Given the description of an element on the screen output the (x, y) to click on. 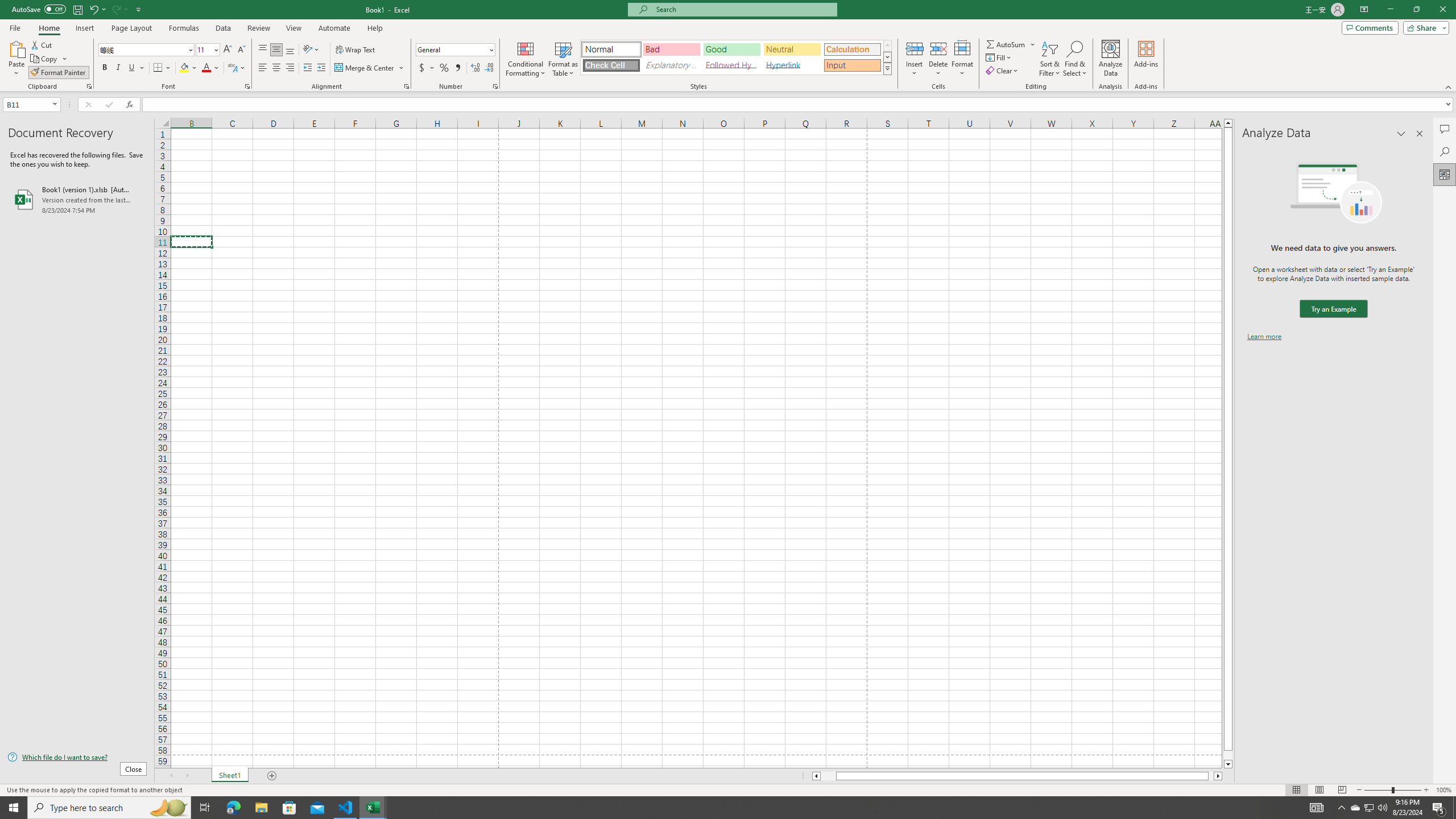
Align Left (262, 67)
Percent Style (443, 67)
Format (962, 58)
Font Color (210, 67)
Comma Style (457, 67)
Format Painter (58, 72)
Number Format (451, 49)
